Given the description of an element on the screen output the (x, y) to click on. 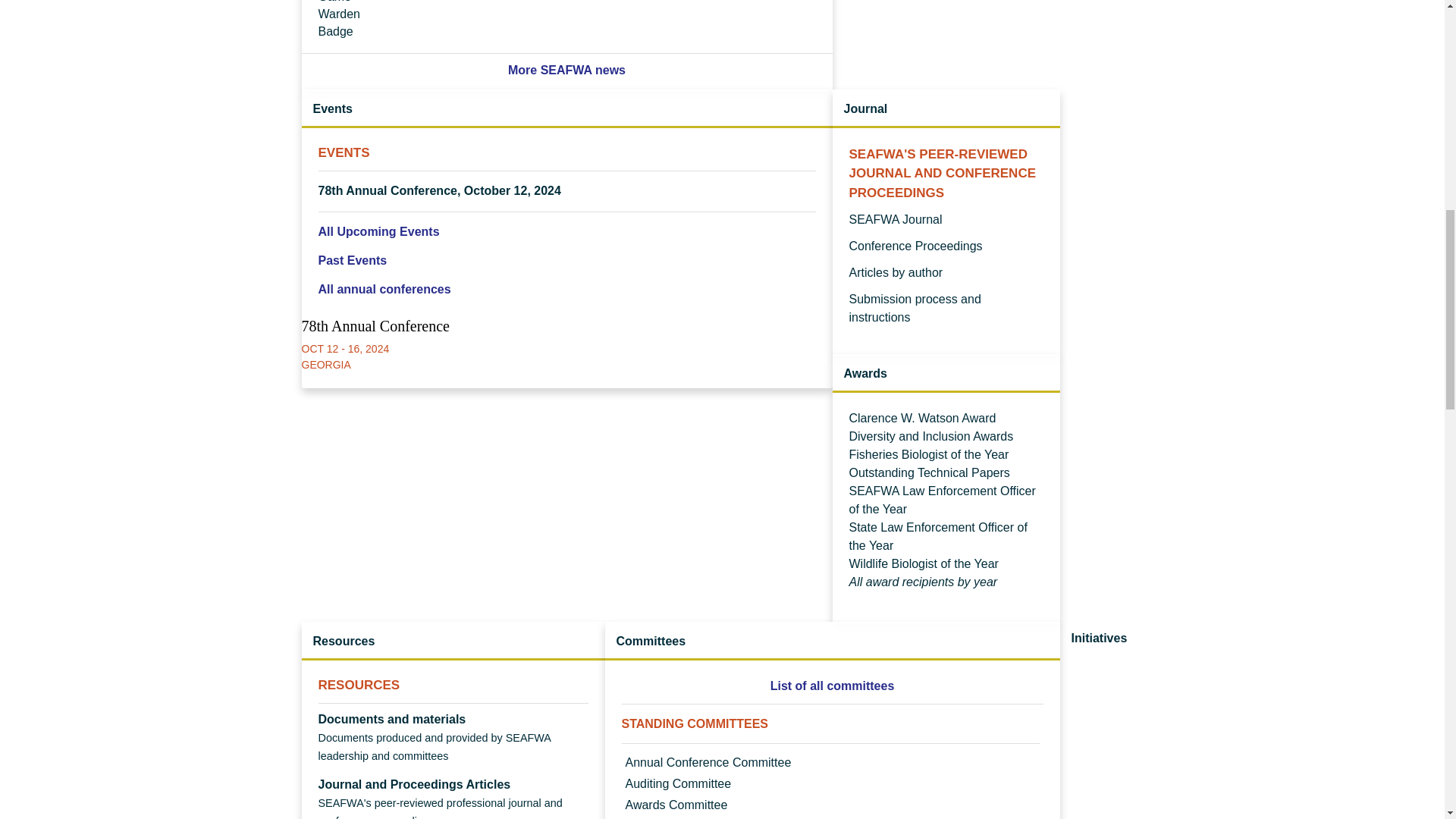
All annual conferences (566, 289)
More SEAFWA news (566, 70)
All Upcoming Events (566, 231)
Events (566, 109)
Past Events (566, 260)
78th Annual Conference, October 12, 2024 (439, 190)
